Given the description of an element on the screen output the (x, y) to click on. 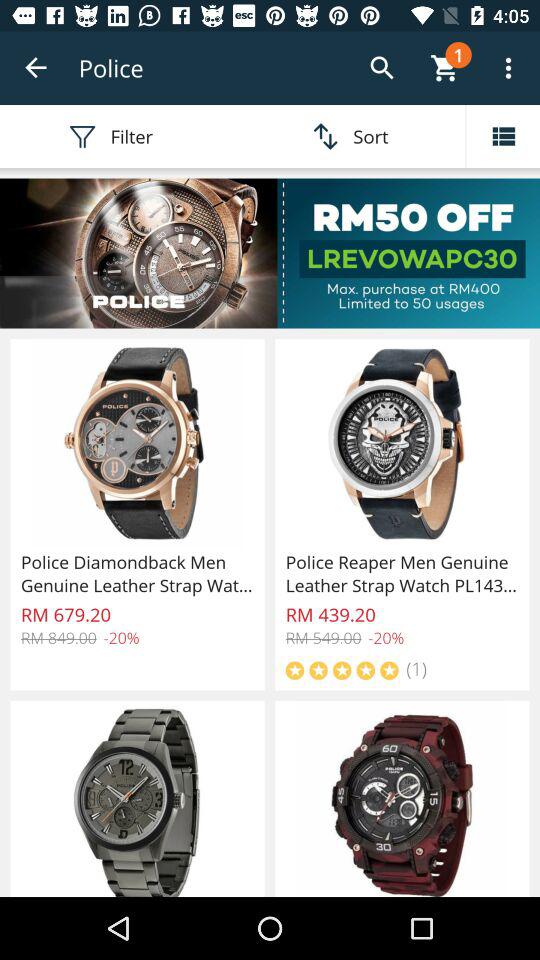
open the item above filter icon (36, 68)
